Given the description of an element on the screen output the (x, y) to click on. 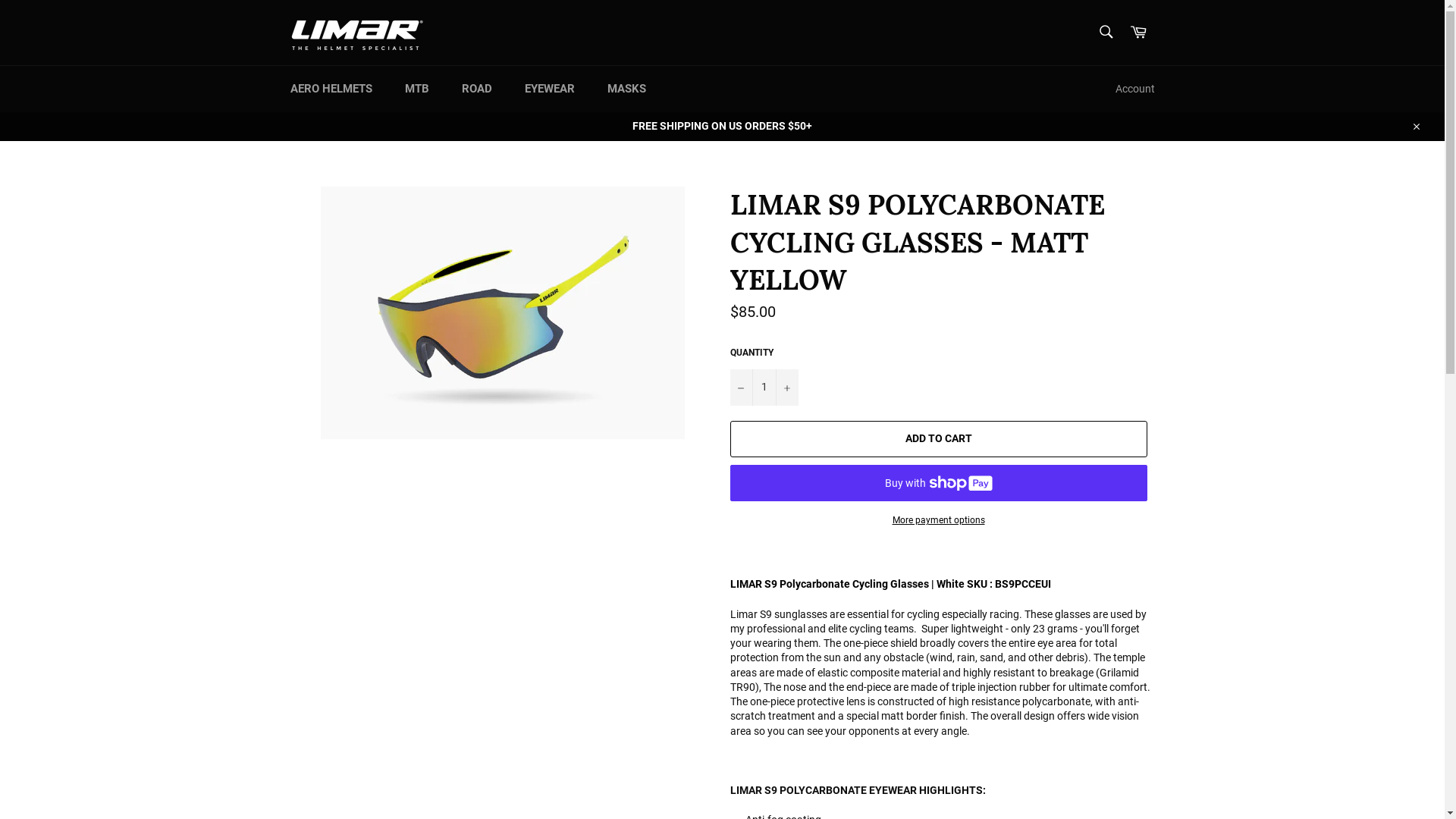
MASKS Element type: text (625, 88)
Cart Element type: text (1138, 32)
AERO HELMETS Element type: text (330, 88)
Close Element type: text (1415, 126)
ADD TO CART Element type: text (937, 438)
Search Element type: text (1105, 31)
EYEWEAR Element type: text (549, 88)
ROAD Element type: text (475, 88)
MTB Element type: text (416, 88)
More payment options Element type: text (937, 520)
Account Element type: text (1134, 88)
+ Element type: text (786, 387)
